Given the description of an element on the screen output the (x, y) to click on. 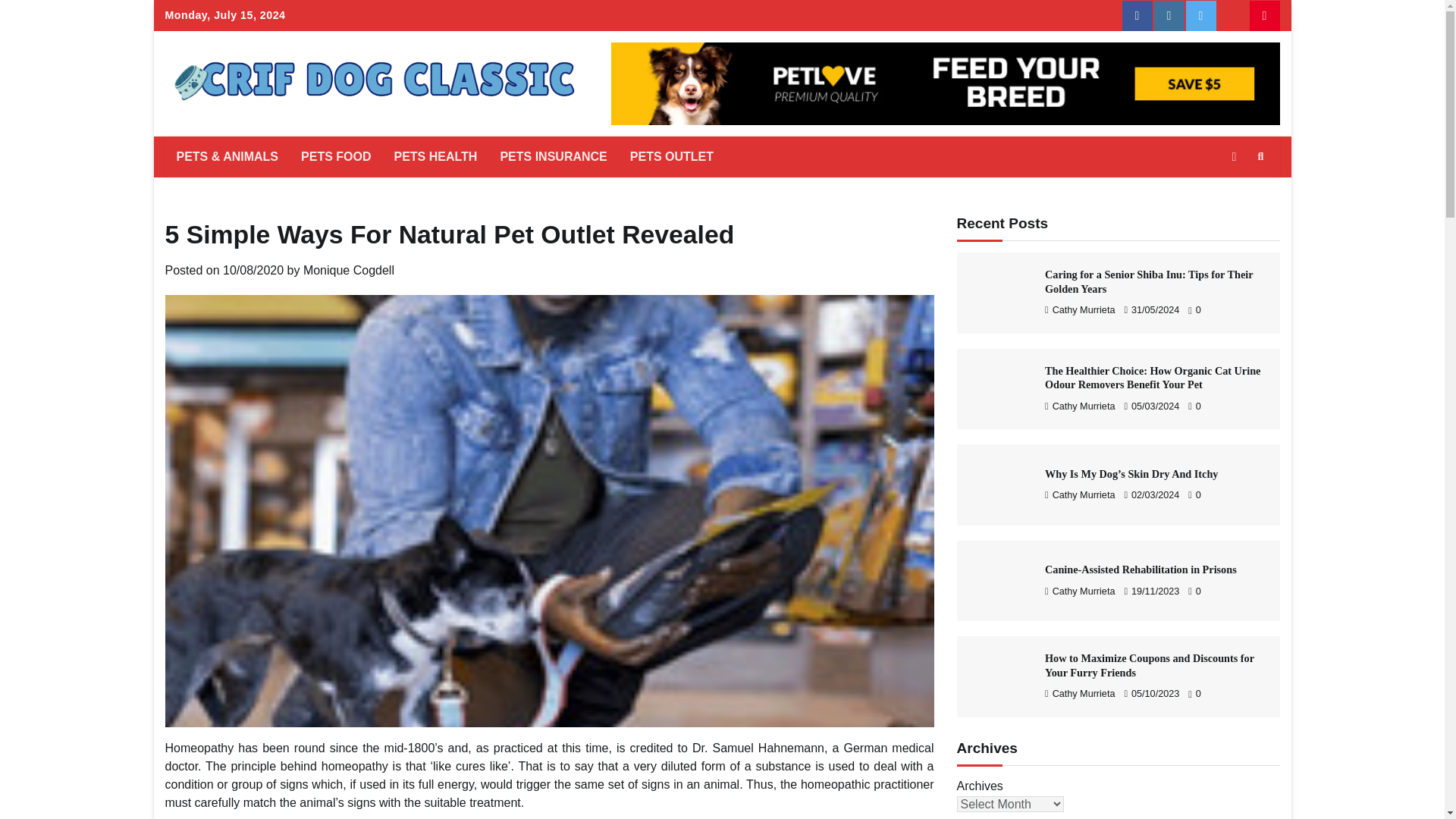
How to Maximize Coupons and Discounts for Your Furry Friends (997, 676)
Monique Cogdell (348, 269)
Canine-Assisted Rehabilitation in Prisons (997, 580)
Instagram (1169, 15)
View Random Post (1233, 156)
Search (1260, 156)
Facebook (1137, 15)
Search (1232, 192)
PETS FOOD (335, 156)
Twitter (1200, 15)
TikTok (1232, 15)
PETS INSURANCE (552, 156)
Cathy Murrieta (1080, 309)
